Given the description of an element on the screen output the (x, y) to click on. 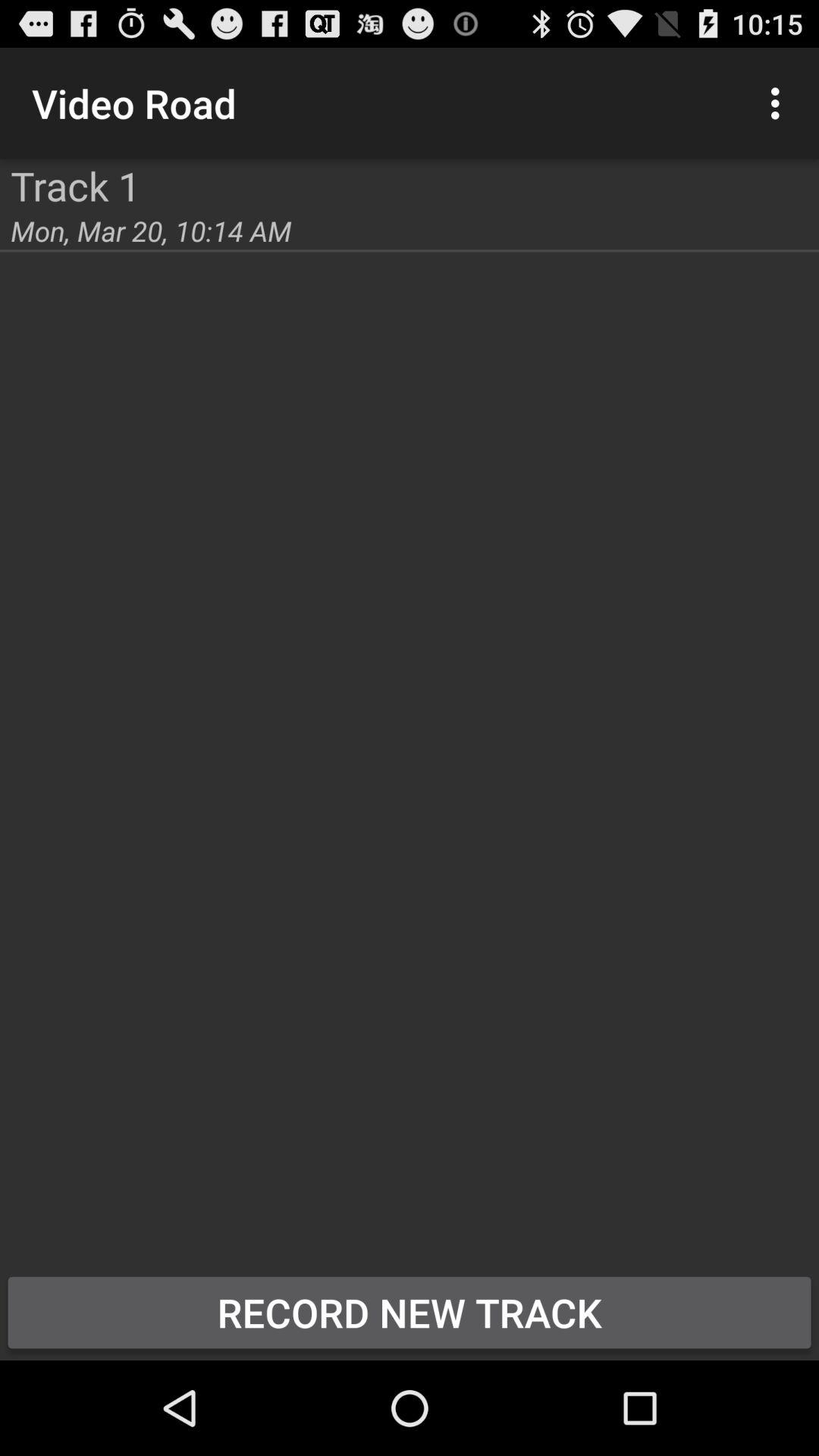
choose the item to the left of track 1 app (0, 159)
